Given the description of an element on the screen output the (x, y) to click on. 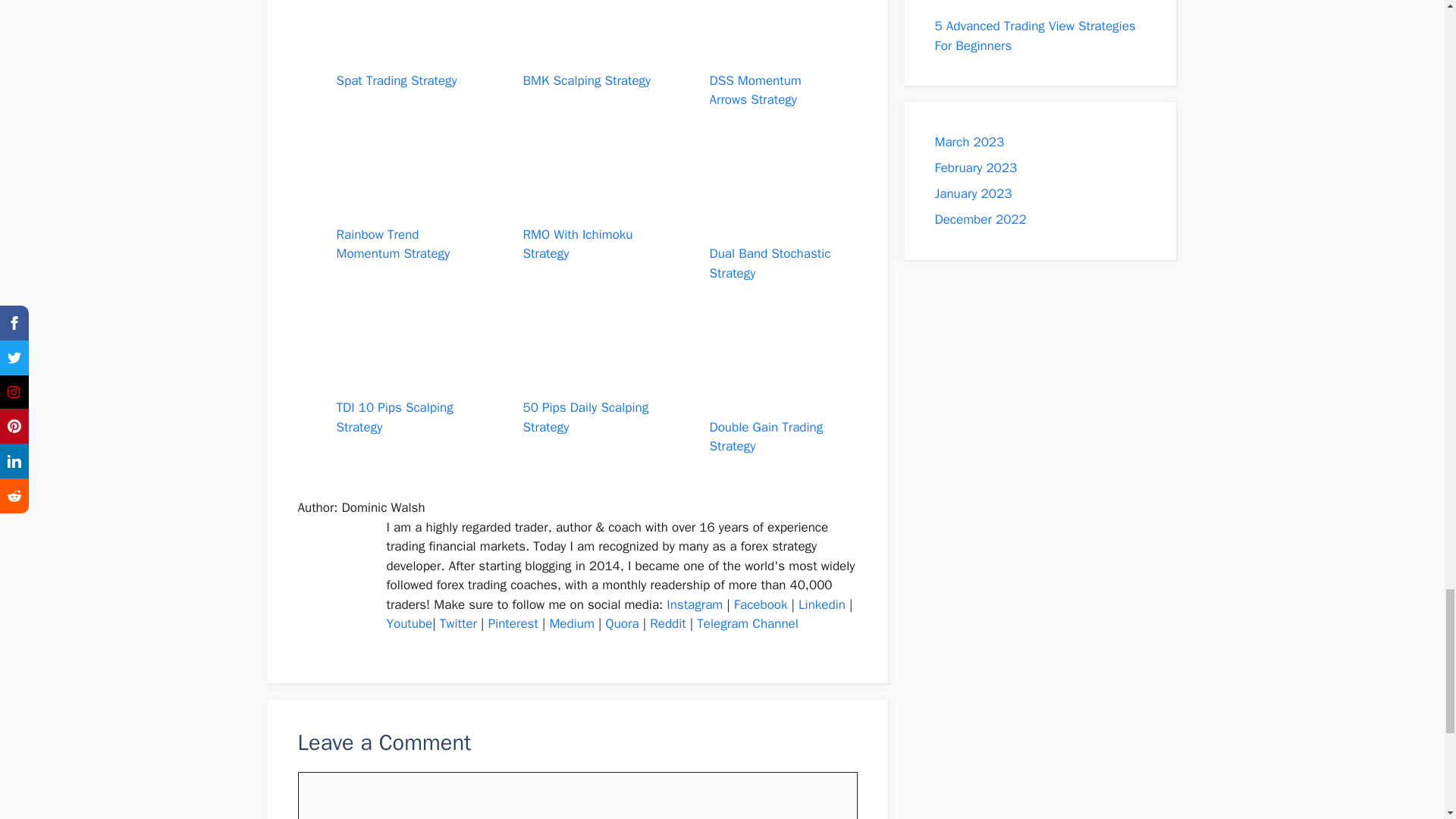
TDI 10 Pips Scalping Strategy (400, 407)
Instagram (694, 604)
RMO With Ichimoku Strategy (587, 234)
Rainbow Trend Momentum Strategy (400, 234)
Linkedin (821, 604)
Double Gain Trading Strategy (774, 426)
BMK Scalping Strategy (587, 70)
Dual Band Stochastic Strategy (774, 253)
Youtube (409, 623)
DSS Momentum Arrows Strategy (774, 80)
